Given the description of an element on the screen output the (x, y) to click on. 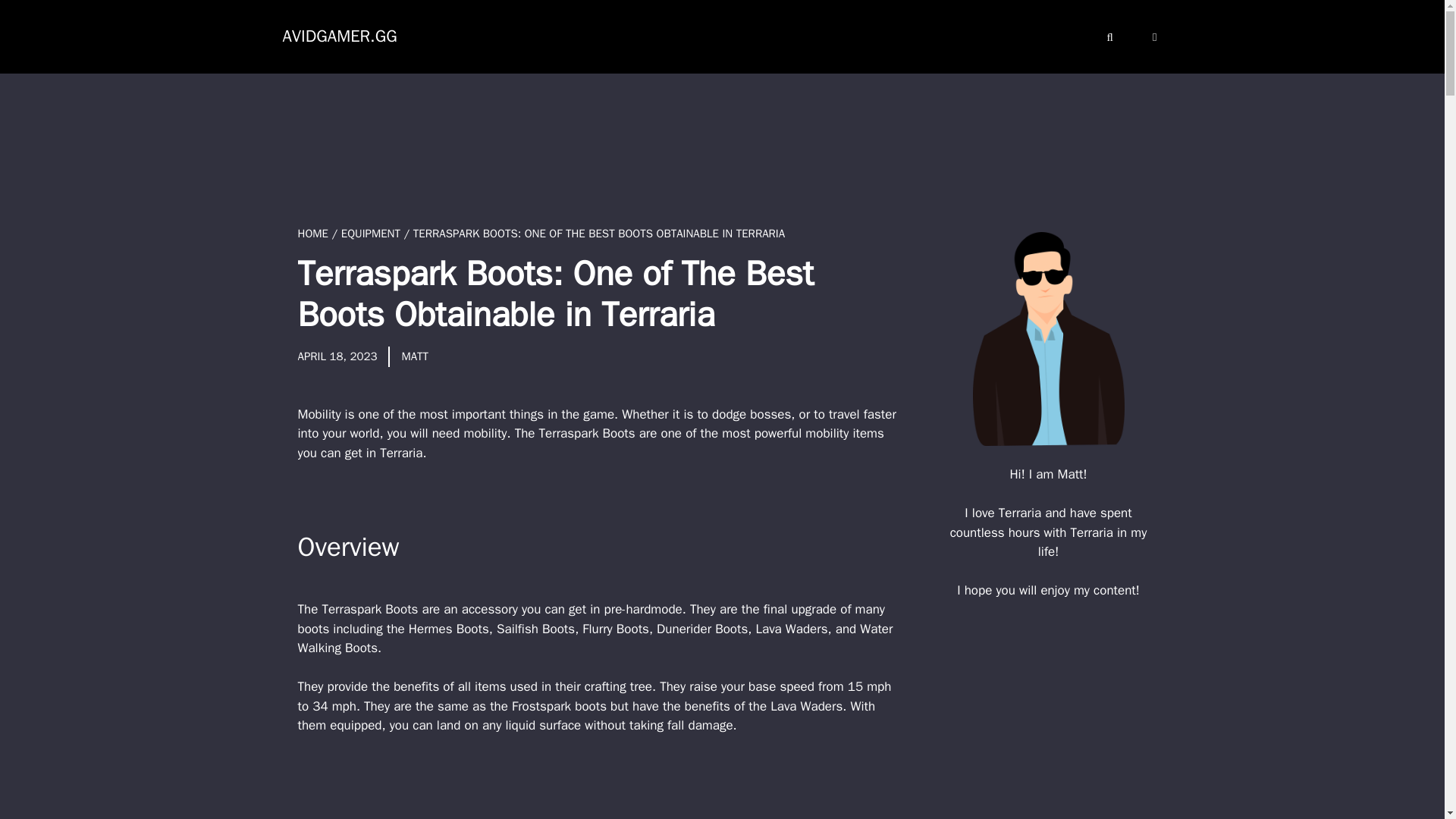
EQUIPMENT (370, 233)
HOME (312, 233)
MATT (413, 356)
AVIDGAMER.GG (339, 36)
